Given the description of an element on the screen output the (x, y) to click on. 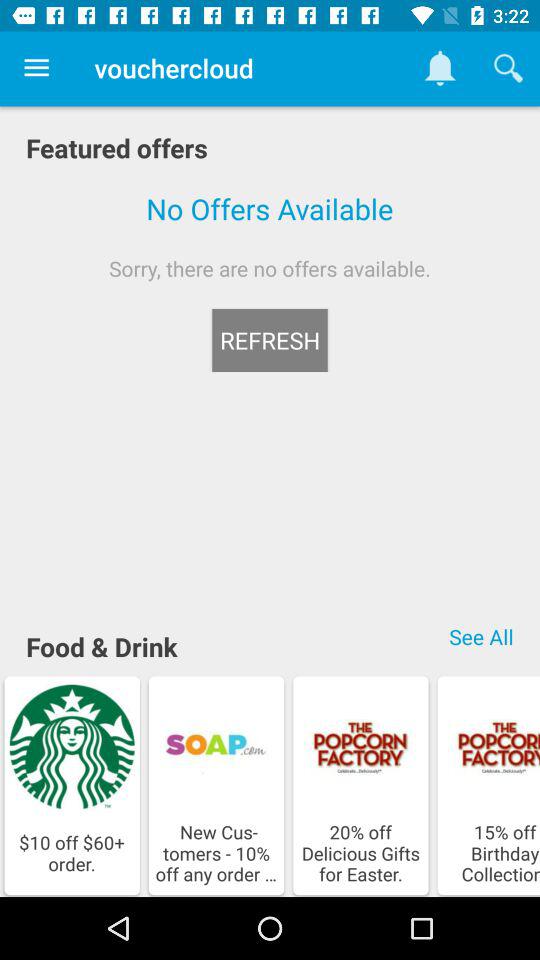
select the icon which is next to the soapcom (360, 747)
